Given the description of an element on the screen output the (x, y) to click on. 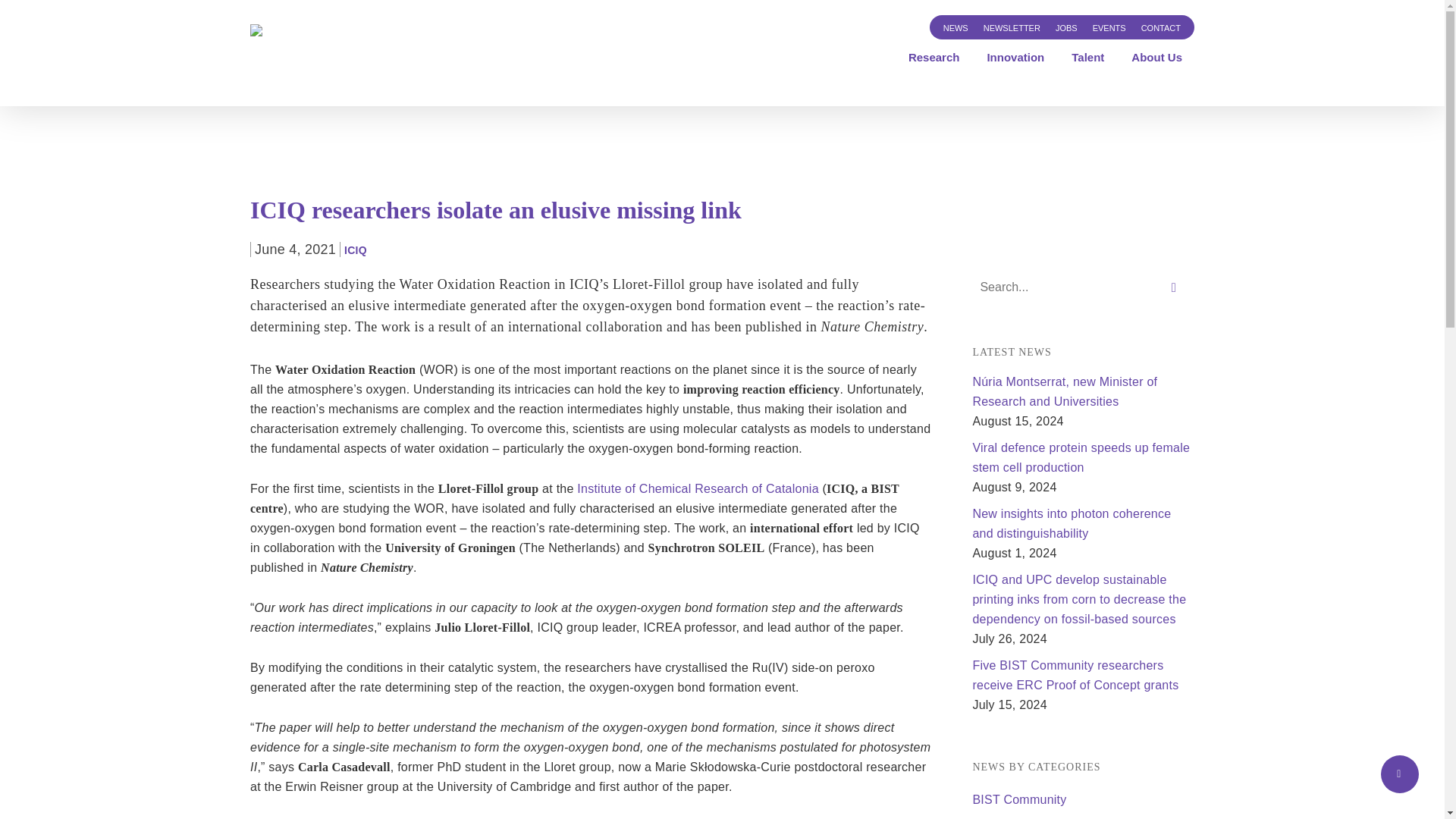
NEWSLETTER (1011, 28)
Innovation (1015, 57)
Institute of Chemical Research of Catalonia (697, 488)
EVENTS (1109, 28)
About Us (1156, 57)
ICIQ (354, 250)
CONTACT (1161, 28)
NEWS (955, 28)
Talent (1087, 57)
Research (933, 57)
